Given the description of an element on the screen output the (x, y) to click on. 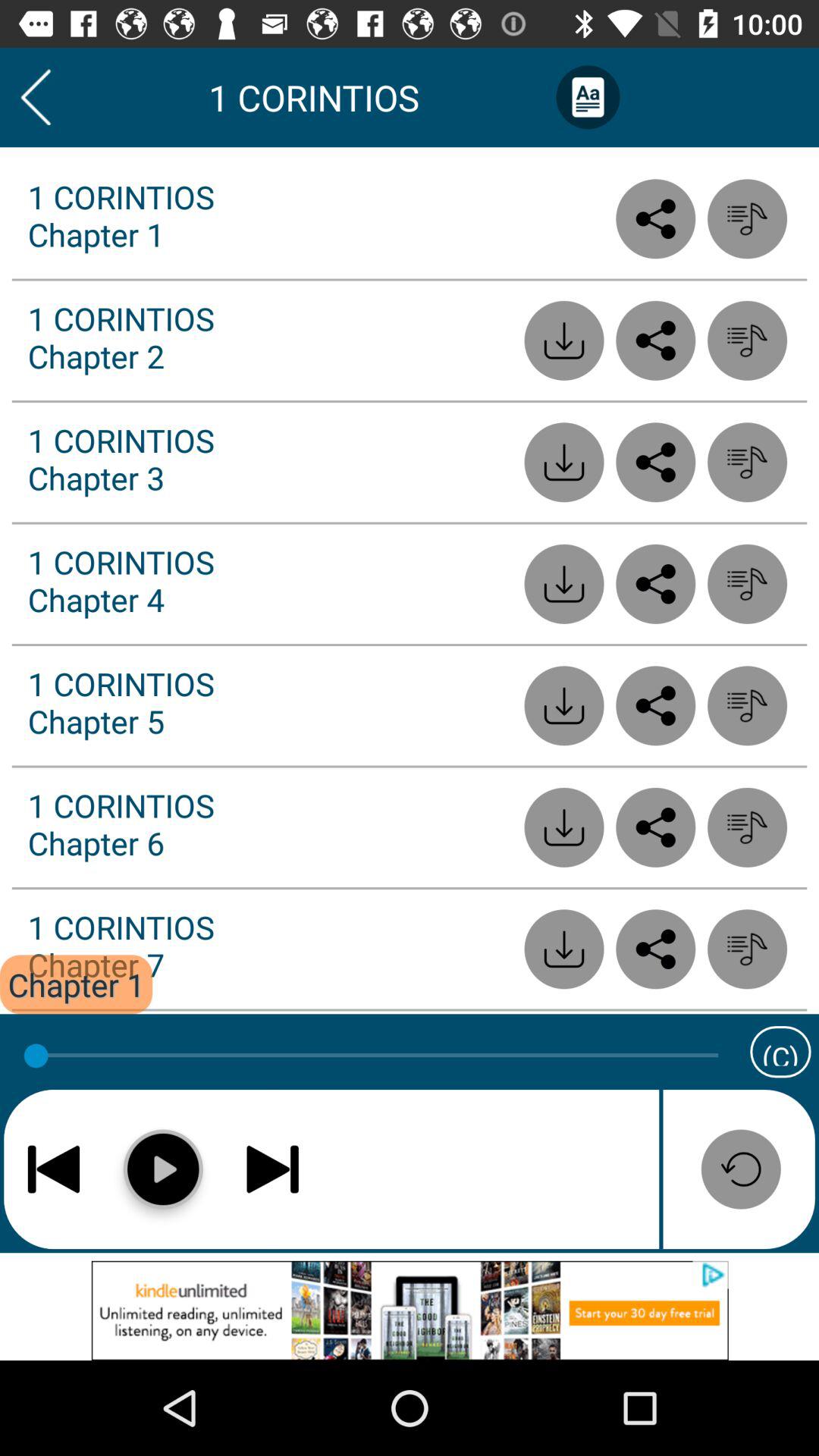
listen to audio (747, 949)
